Given the description of an element on the screen output the (x, y) to click on. 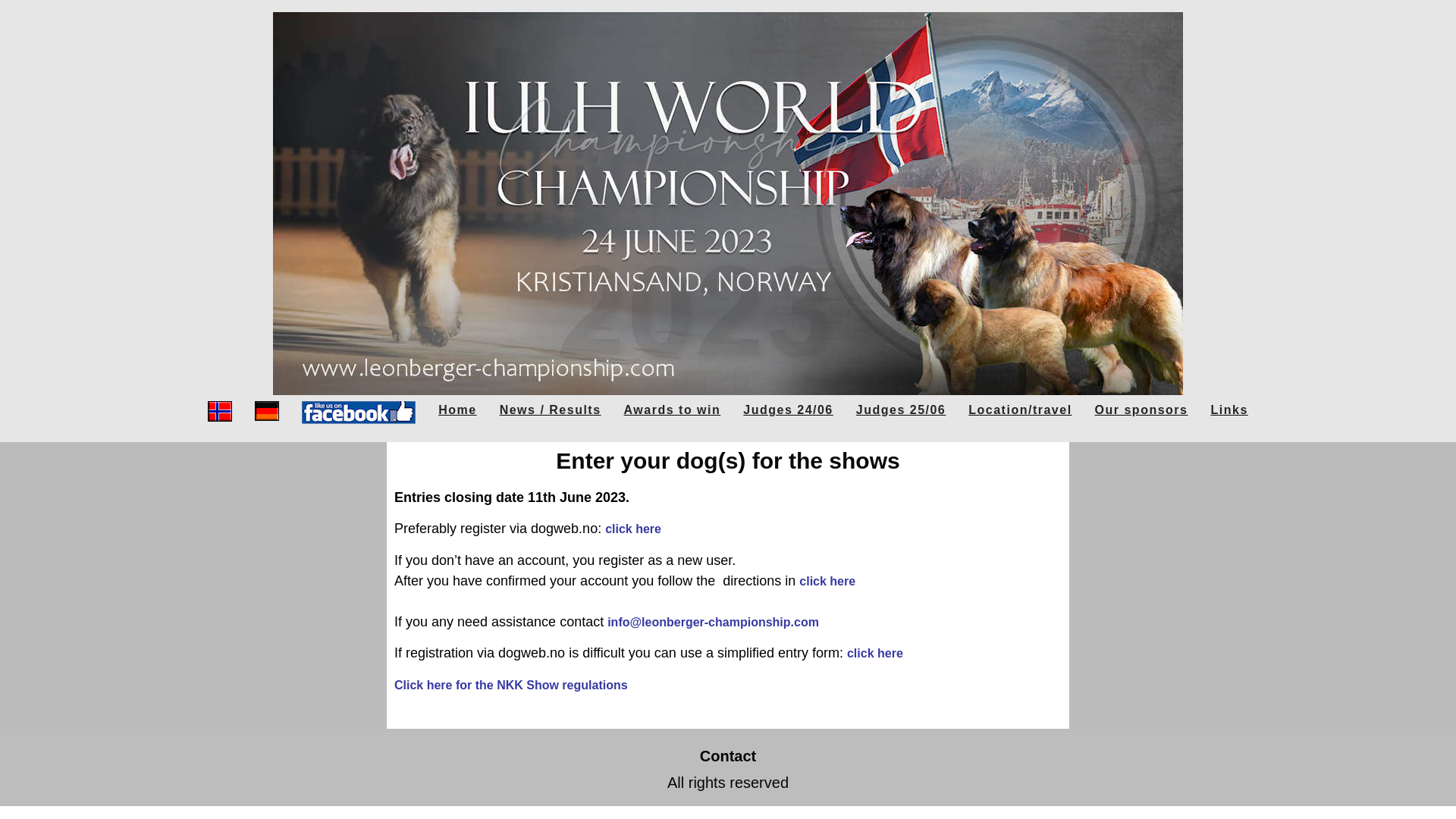
click here (874, 653)
click here (633, 528)
Links (1228, 411)
Home (456, 411)
Click here for the NKK Show regulations (510, 684)
Our sponsors (1141, 411)
click here (827, 581)
Contact (727, 756)
Awards to win (672, 411)
